Given the description of an element on the screen output the (x, y) to click on. 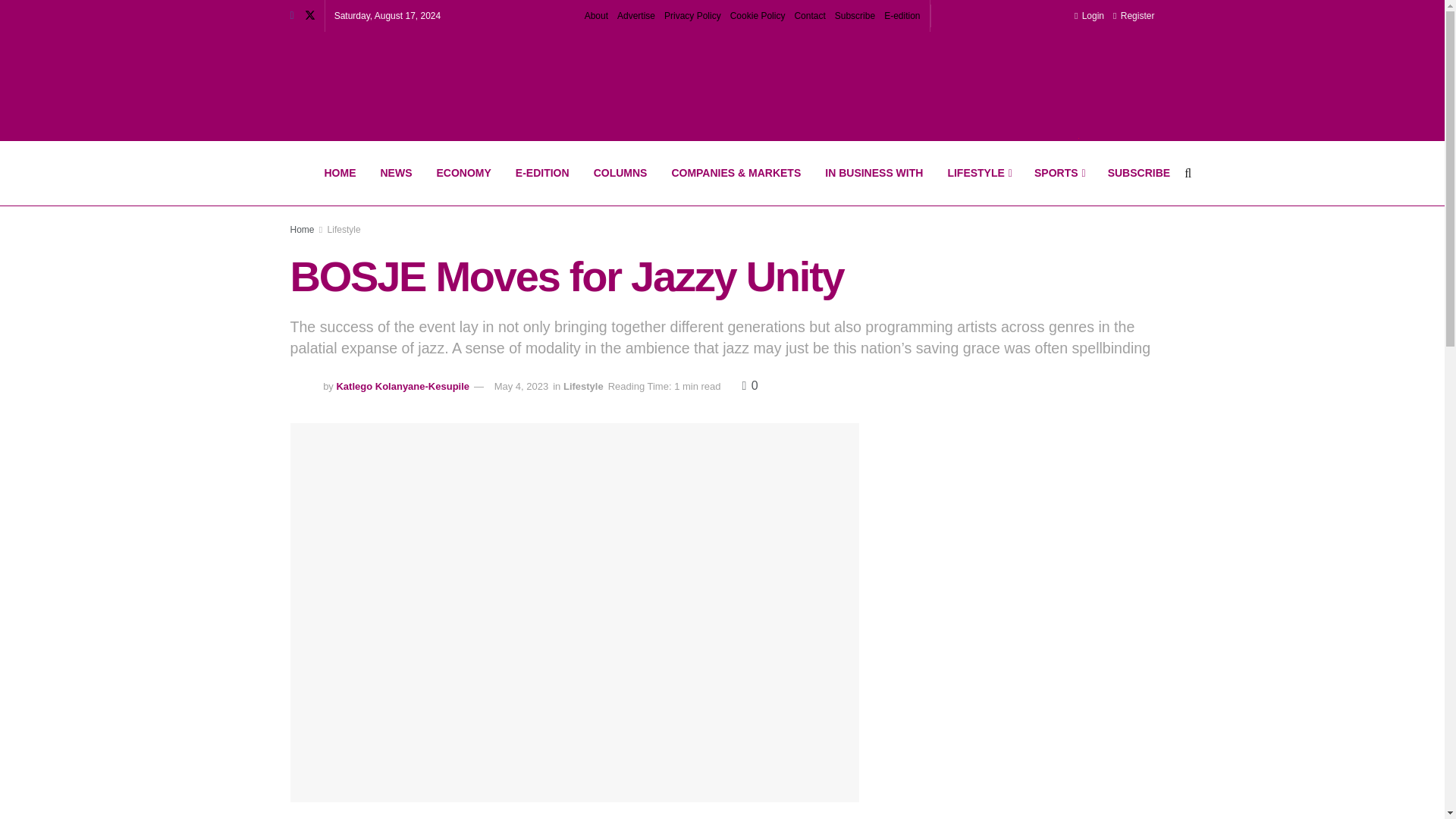
E-edition (901, 15)
E-EDITION (541, 172)
Login (1088, 15)
ECONOMY (464, 172)
COLUMNS (619, 172)
Contact (809, 15)
SPORTS (1059, 172)
Cookie Policy (758, 15)
Advertise (636, 15)
Subscribe (854, 15)
